Given the description of an element on the screen output the (x, y) to click on. 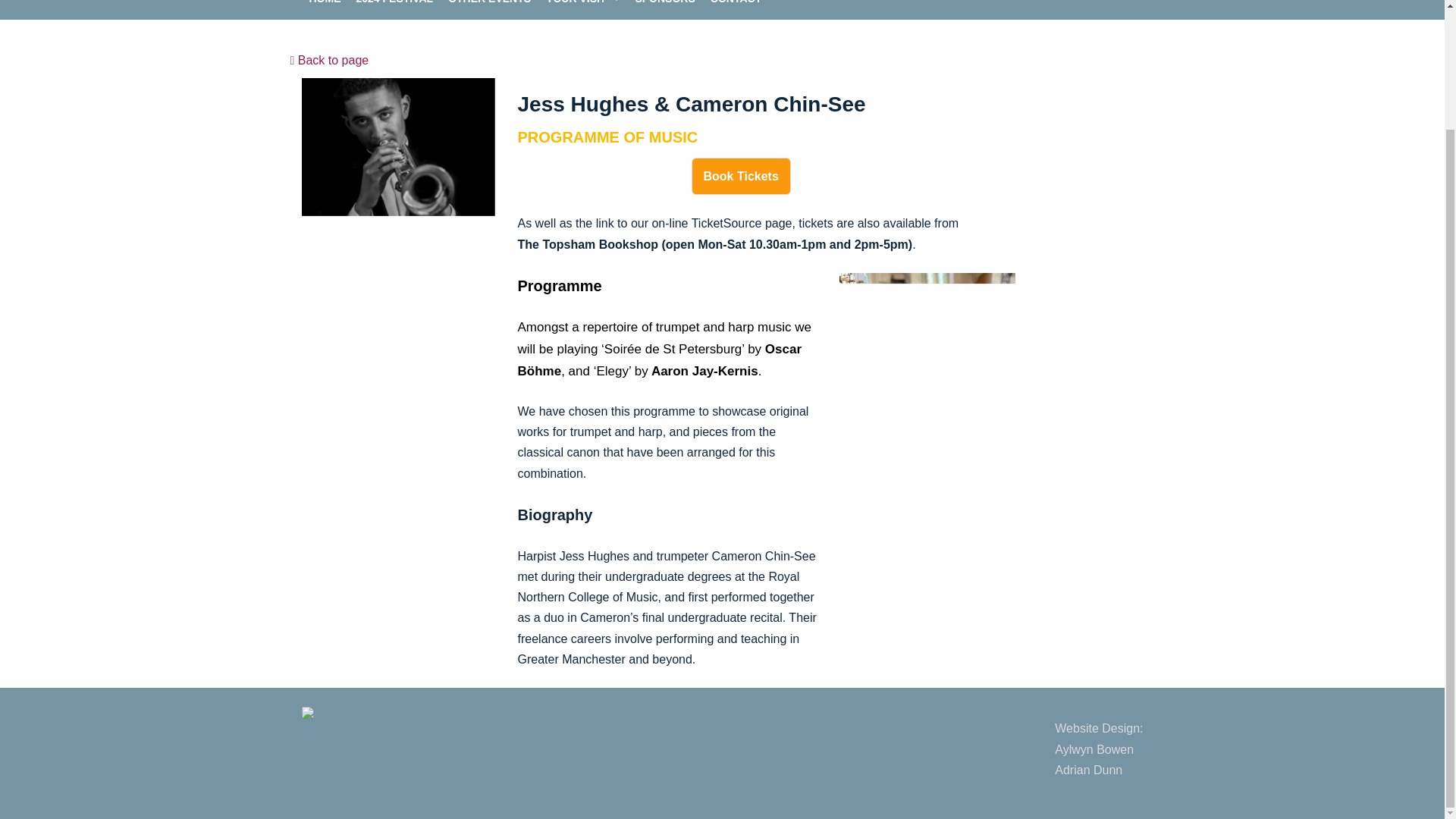
OTHER EVENTS (489, 2)
YOUR VISIT (575, 2)
CONTACT (1098, 748)
SPONSORS (735, 2)
2024 FESTIVAL (664, 2)
Book Tickets (394, 2)
HOME (740, 176)
Back to page (324, 2)
